Given the description of an element on the screen output the (x, y) to click on. 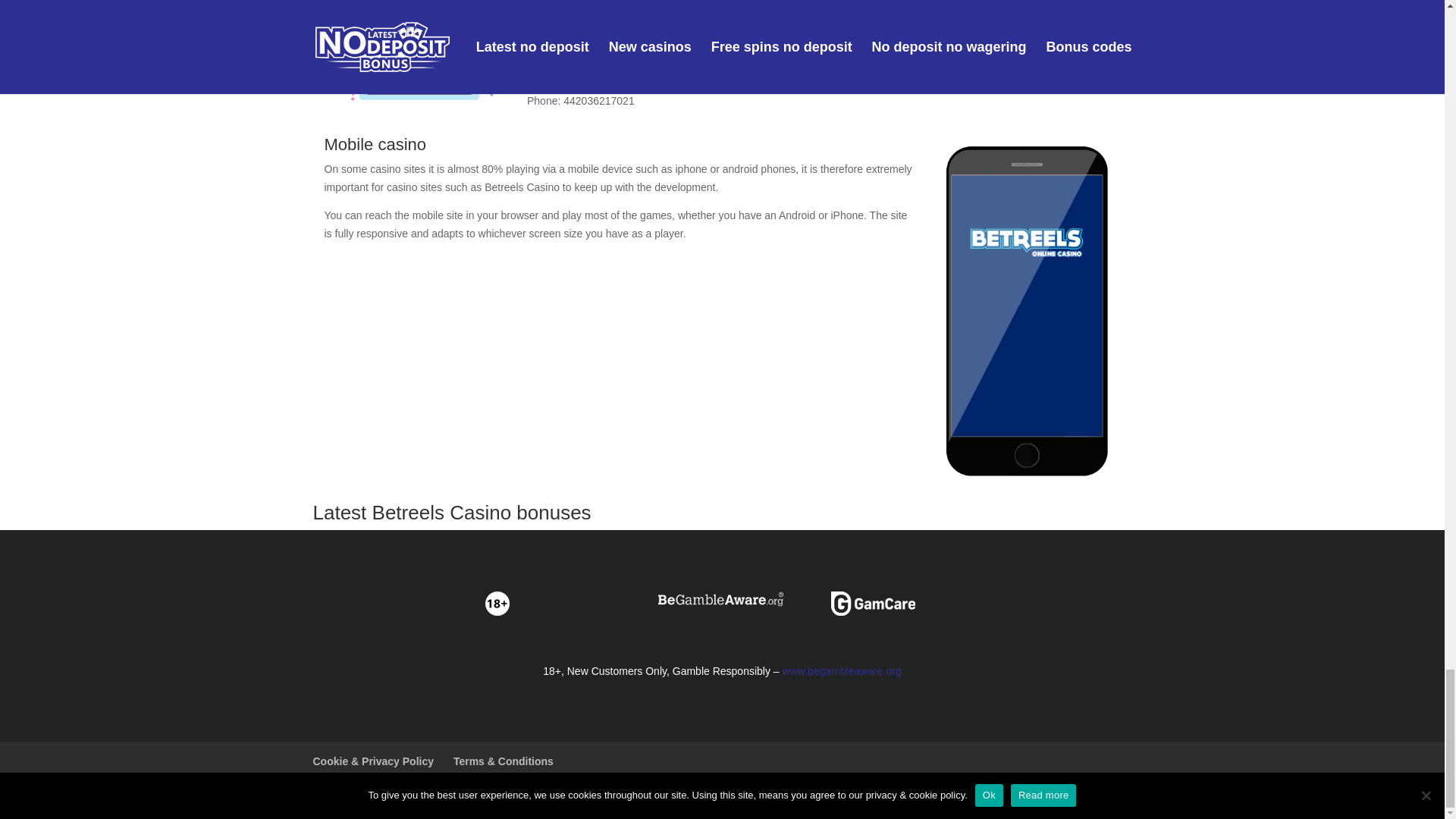
www.begambleaware.org (842, 671)
